Given the description of an element on the screen output the (x, y) to click on. 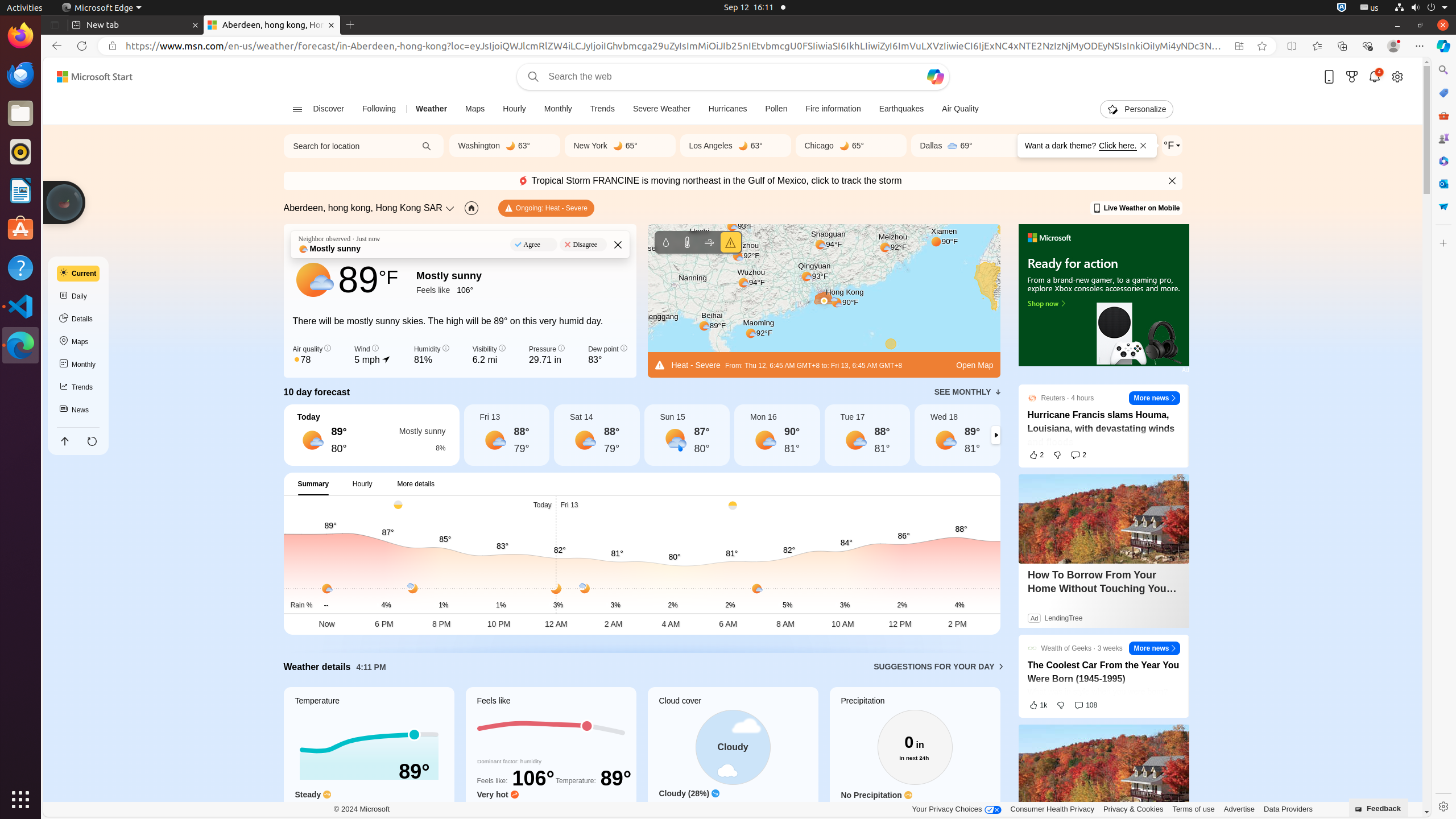
Change location Element type: push-button (450, 207)
Details Element type: push-button (78, 319)
Today Mostly sunny 89° Mostly sunny 80° Precipitation 8% Element type: push-button (371, 434)
Feedback Element type: push-button (1378, 807)
Dew point 83° Element type: link (607, 355)
